Given the description of an element on the screen output the (x, y) to click on. 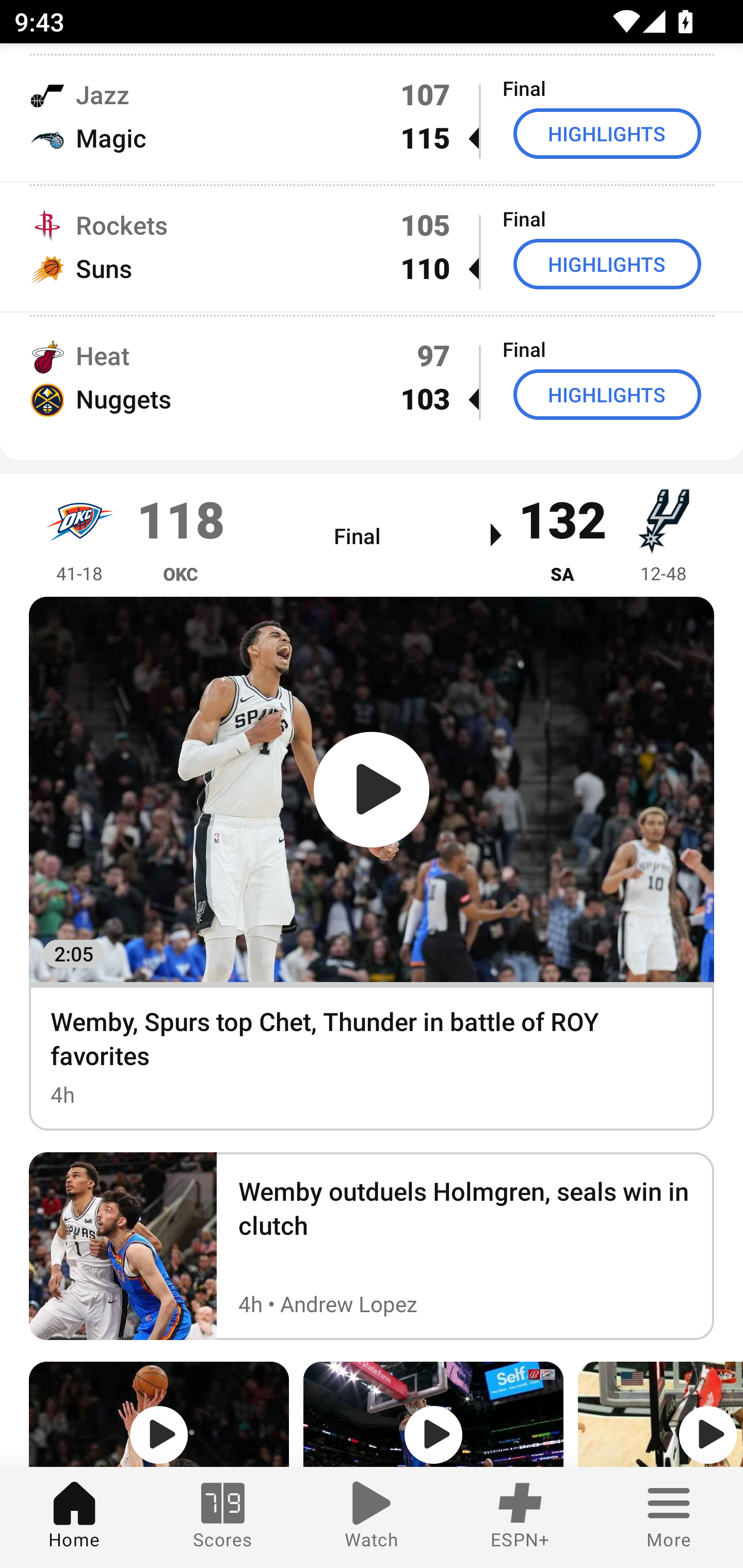
Jazz 107 Final Magic 115  HIGHLIGHTS (371, 115)
HIGHLIGHTS (607, 133)
Rockets 105 Final Suns 110  HIGHLIGHTS (371, 245)
HIGHLIGHTS (607, 264)
Heat 97 Final Nuggets 103  HIGHLIGHTS (371, 377)
HIGHLIGHTS (607, 395)
 (158, 1414)
 (433, 1414)
 (660, 1414)
Scores (222, 1517)
Watch (371, 1517)
ESPN+ (519, 1517)
More (668, 1517)
